Given the description of an element on the screen output the (x, y) to click on. 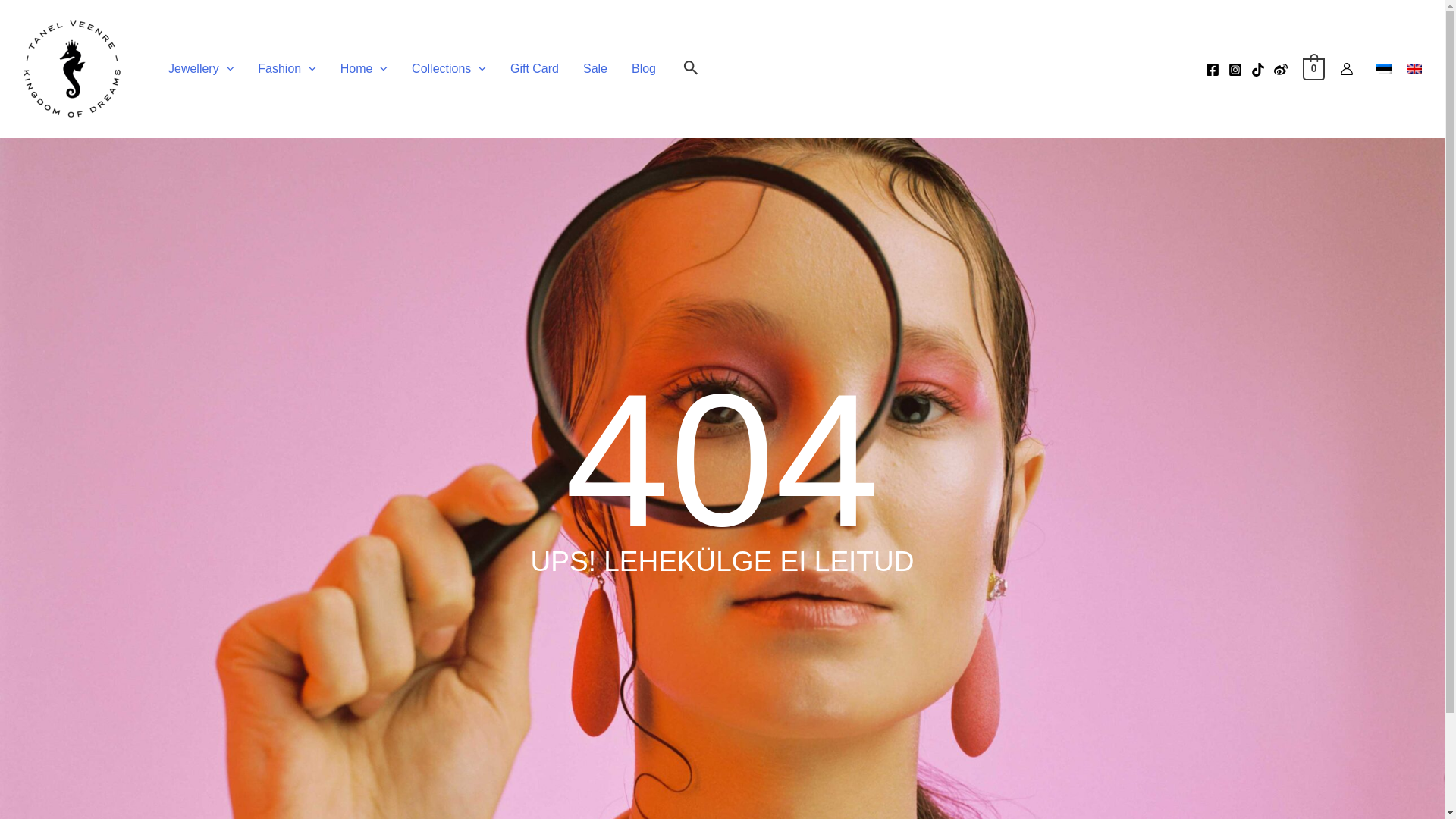
Jewellery (200, 68)
Home (363, 68)
Collections (447, 68)
Fashion (287, 68)
